Given the description of an element on the screen output the (x, y) to click on. 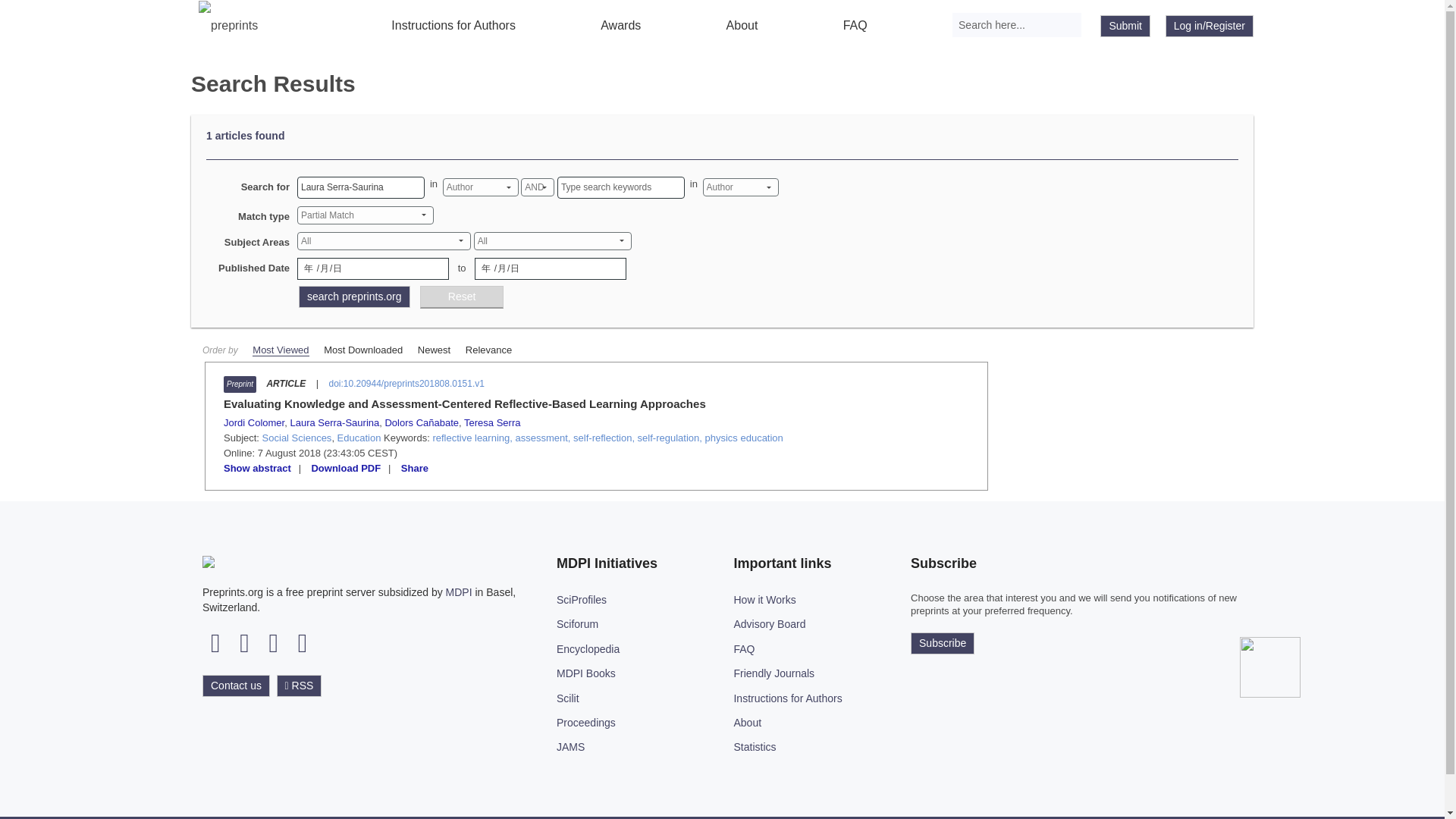
Laura Serra-Saurina (361, 187)
Newest (433, 349)
search preprints.org (354, 296)
Relevance (488, 349)
Most Viewed (279, 349)
Submit (1125, 25)
Share (414, 468)
Laura Serra-Saurina (333, 422)
Most Downloaded (363, 349)
